Given the description of an element on the screen output the (x, y) to click on. 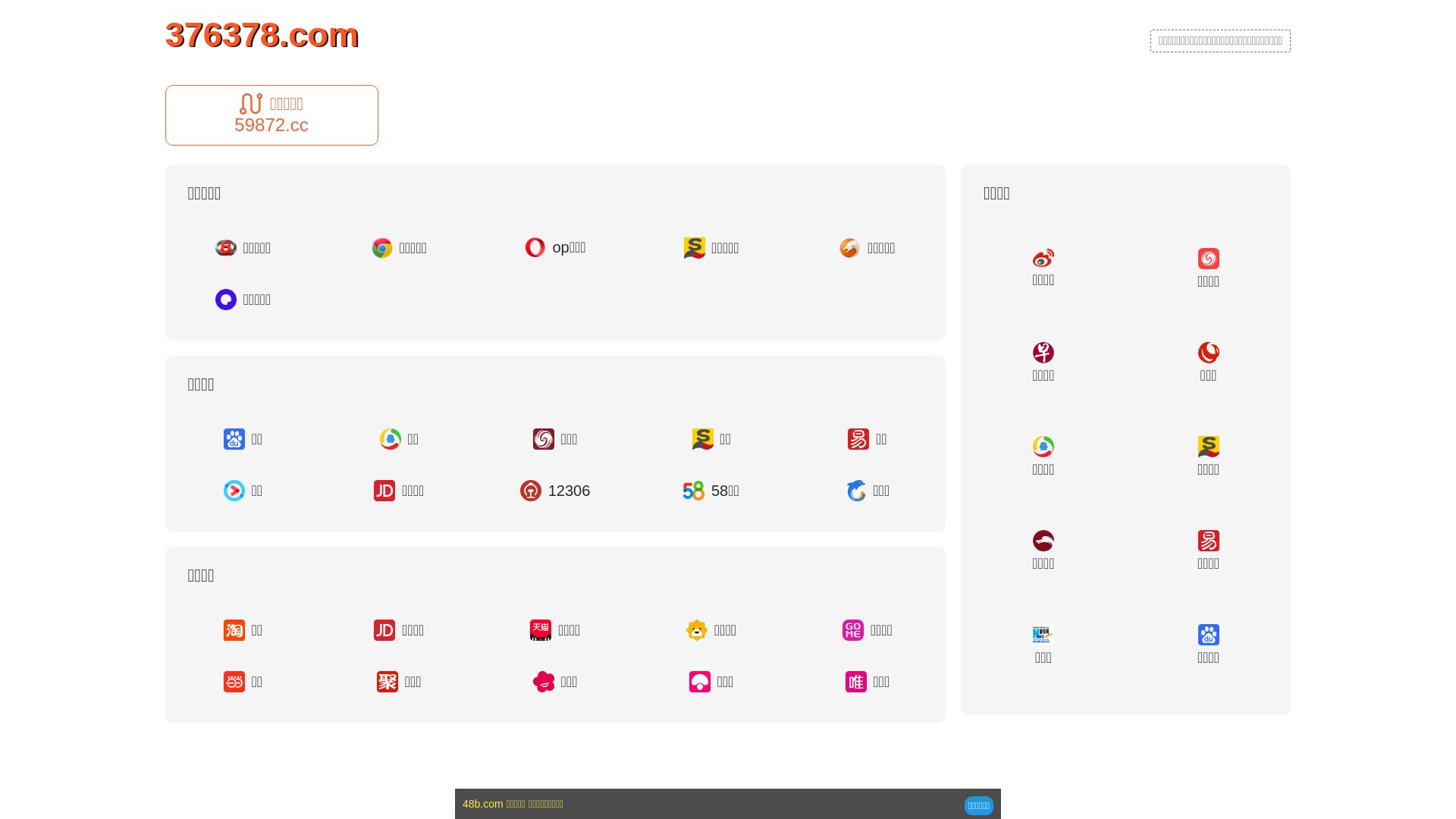
376378.com Element type: text (261, 32)
12306 Element type: text (554, 490)
